Given the description of an element on the screen output the (x, y) to click on. 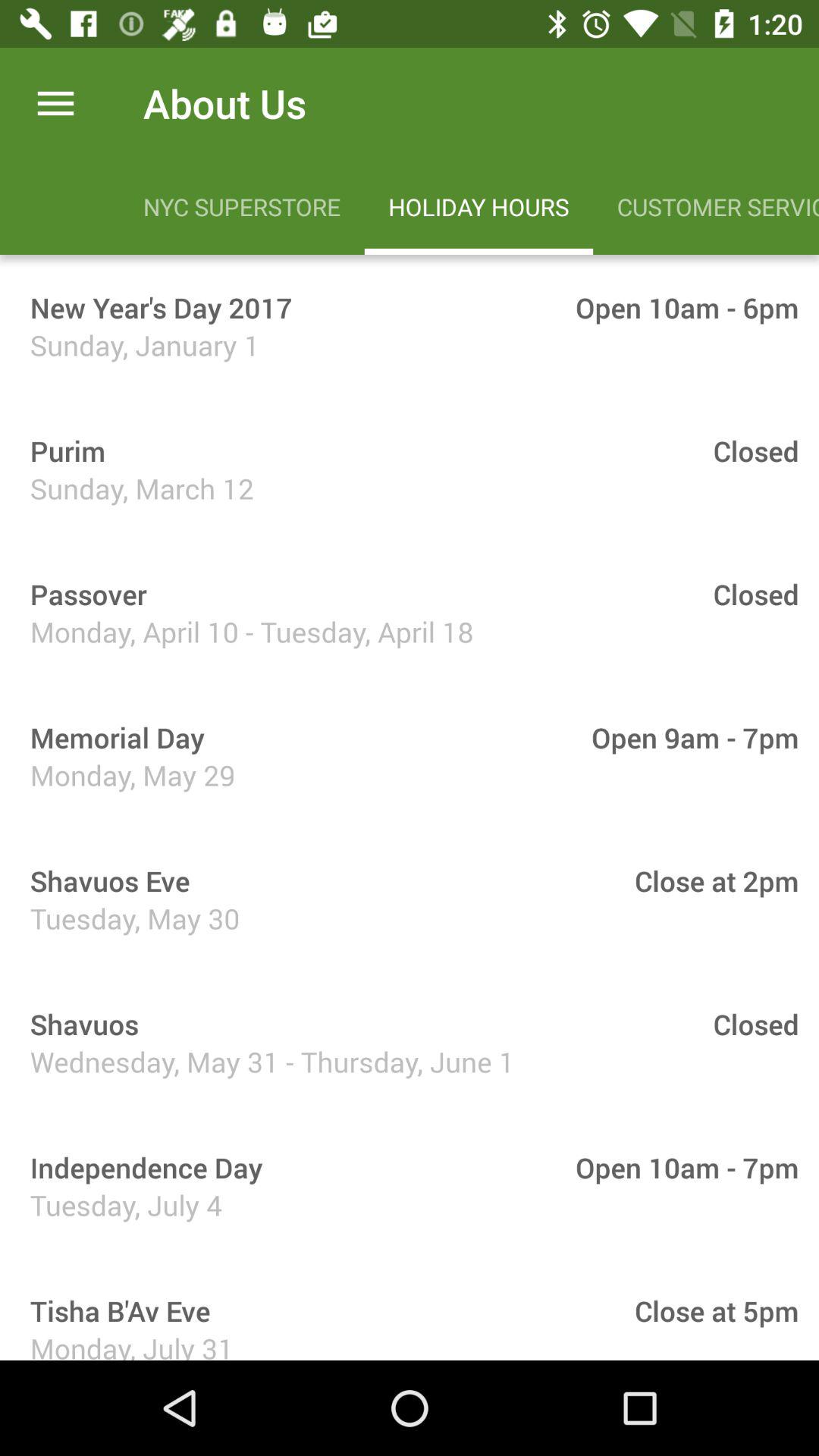
click the item to the left of open 10am - 6pm item (155, 307)
